Given the description of an element on the screen output the (x, y) to click on. 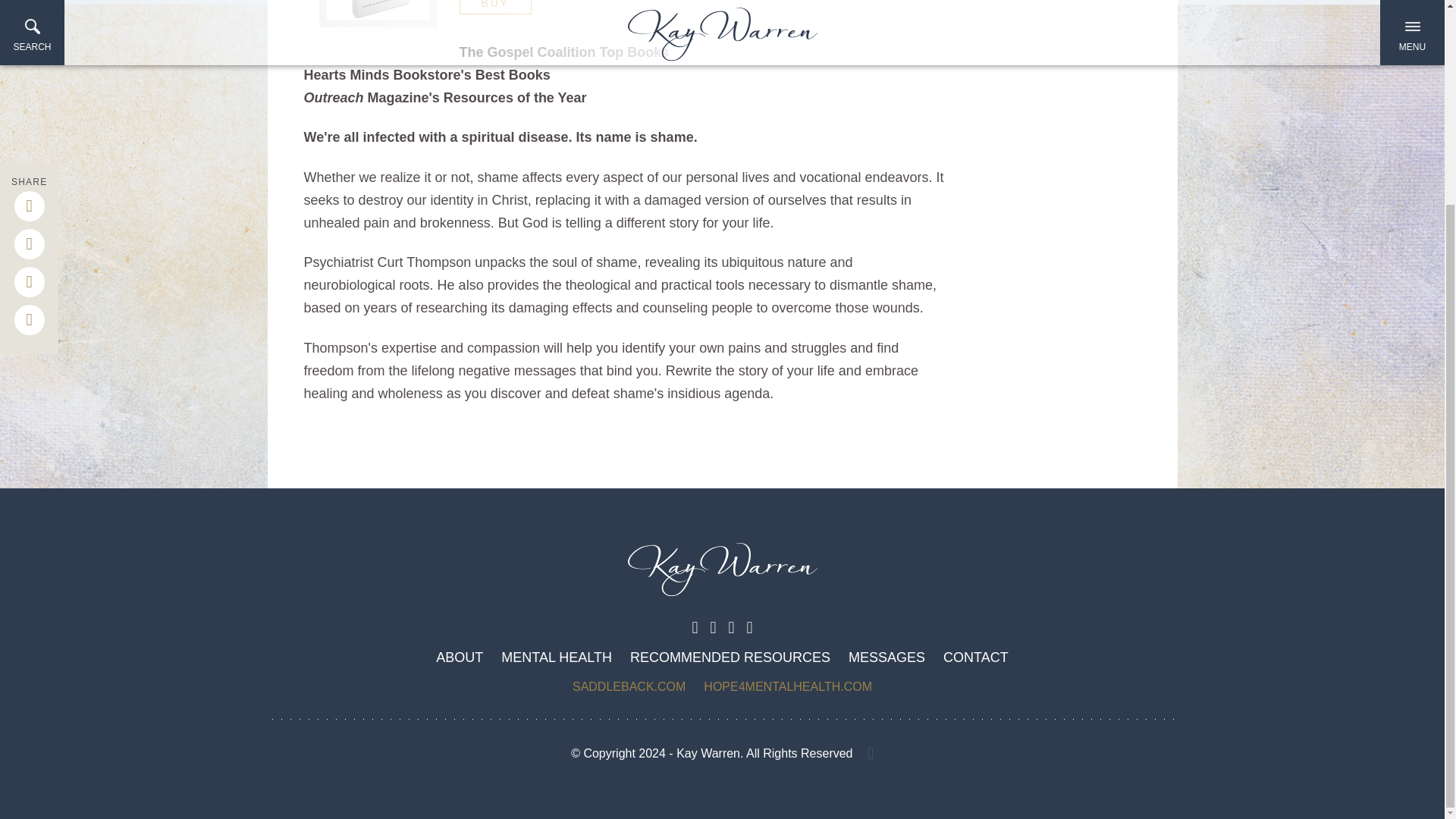
Kay Warren (721, 575)
